Given the description of an element on the screen output the (x, y) to click on. 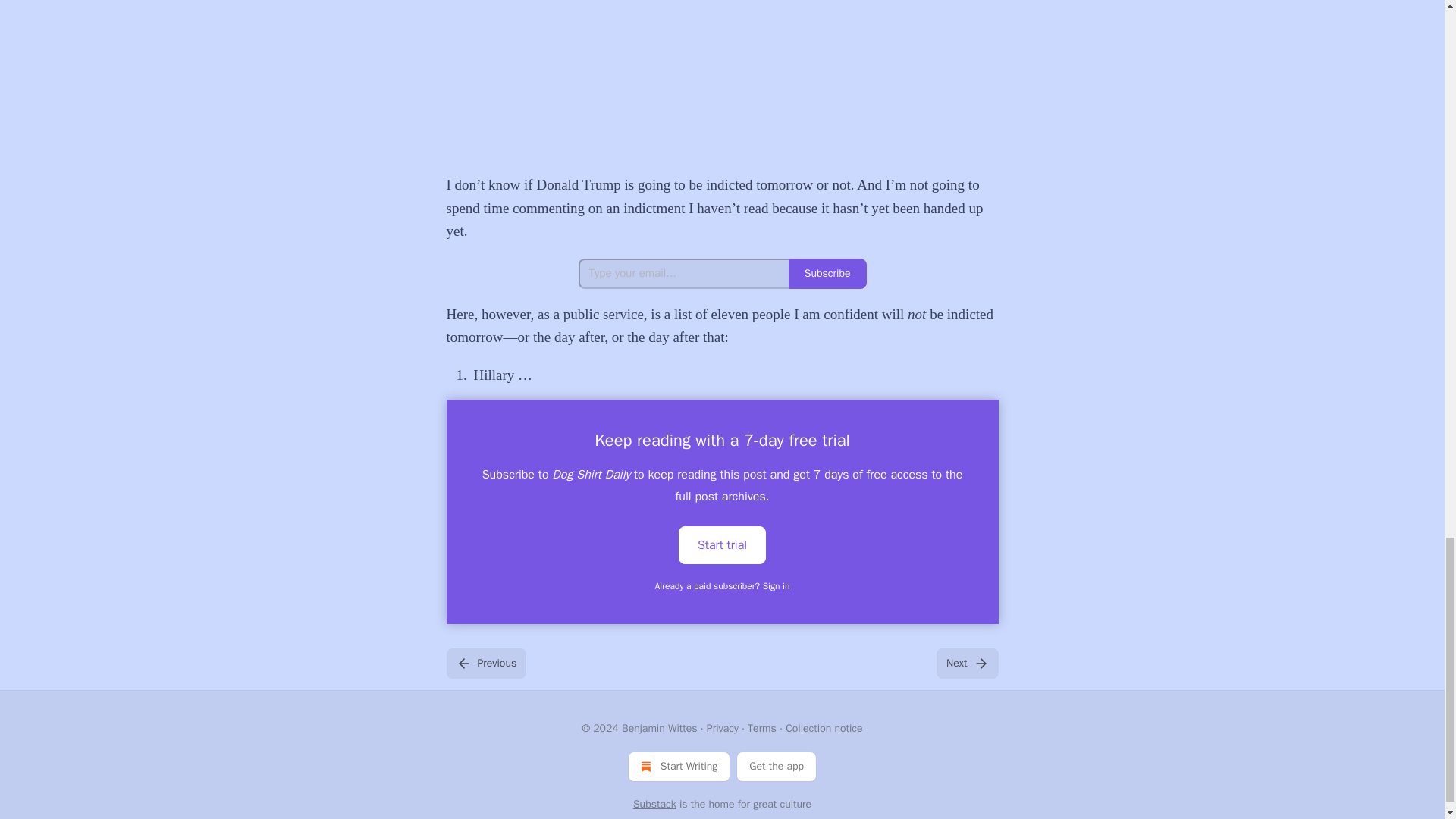
Collection notice (823, 727)
Start trial (721, 544)
Start Writing (678, 766)
Next (966, 663)
Terms (762, 727)
Start trial (721, 545)
Privacy (722, 727)
Substack (655, 803)
Already a paid subscriber? Sign in (722, 585)
